Given the description of an element on the screen output the (x, y) to click on. 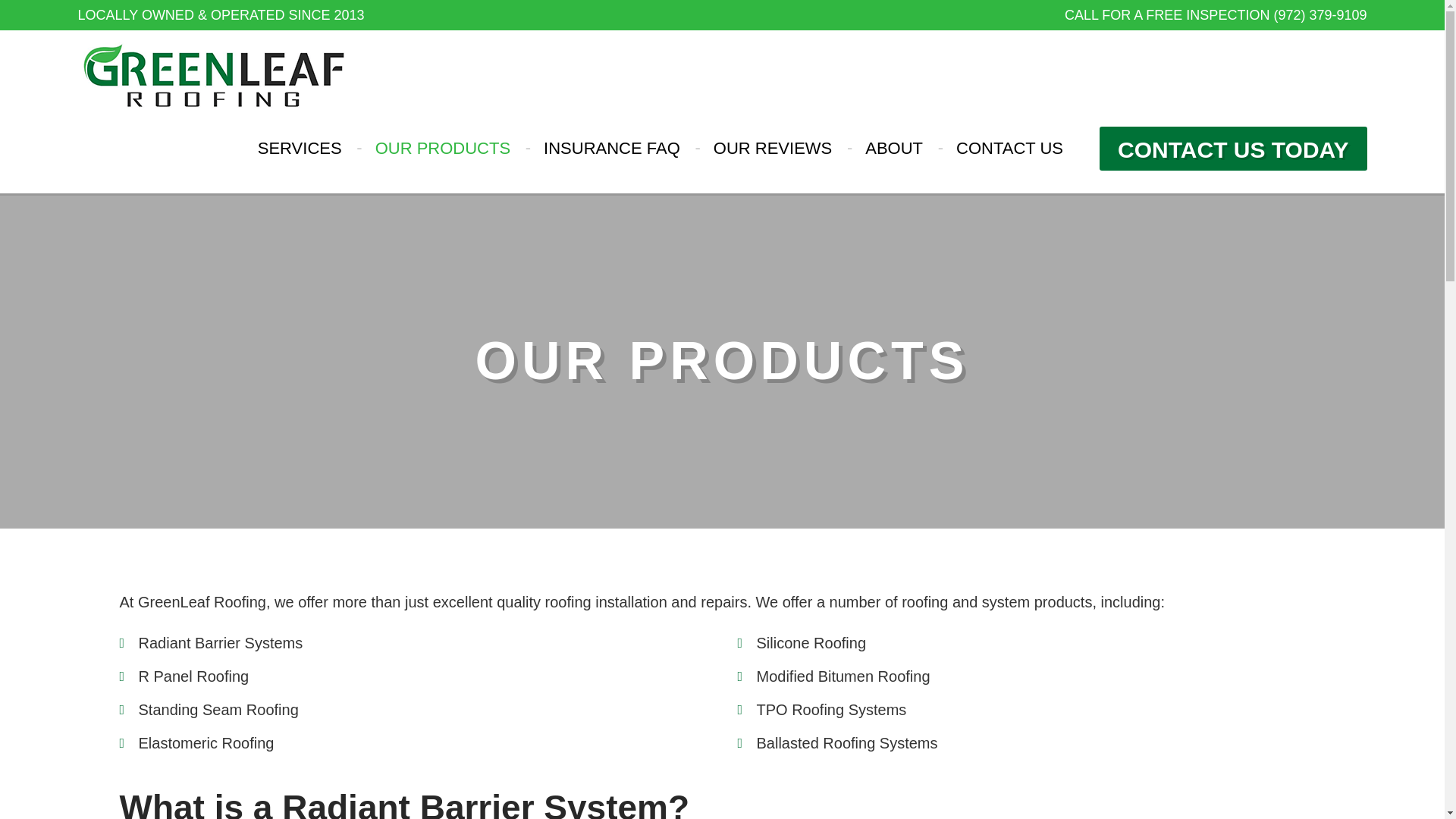
INSURANCE FAQ (611, 152)
SERVICES (299, 152)
ABOUT (893, 152)
CONTACT US TODAY (1233, 148)
CONTACT US (1009, 152)
OUR PRODUCTS (443, 152)
OUR REVIEWS (772, 152)
